Given the description of an element on the screen output the (x, y) to click on. 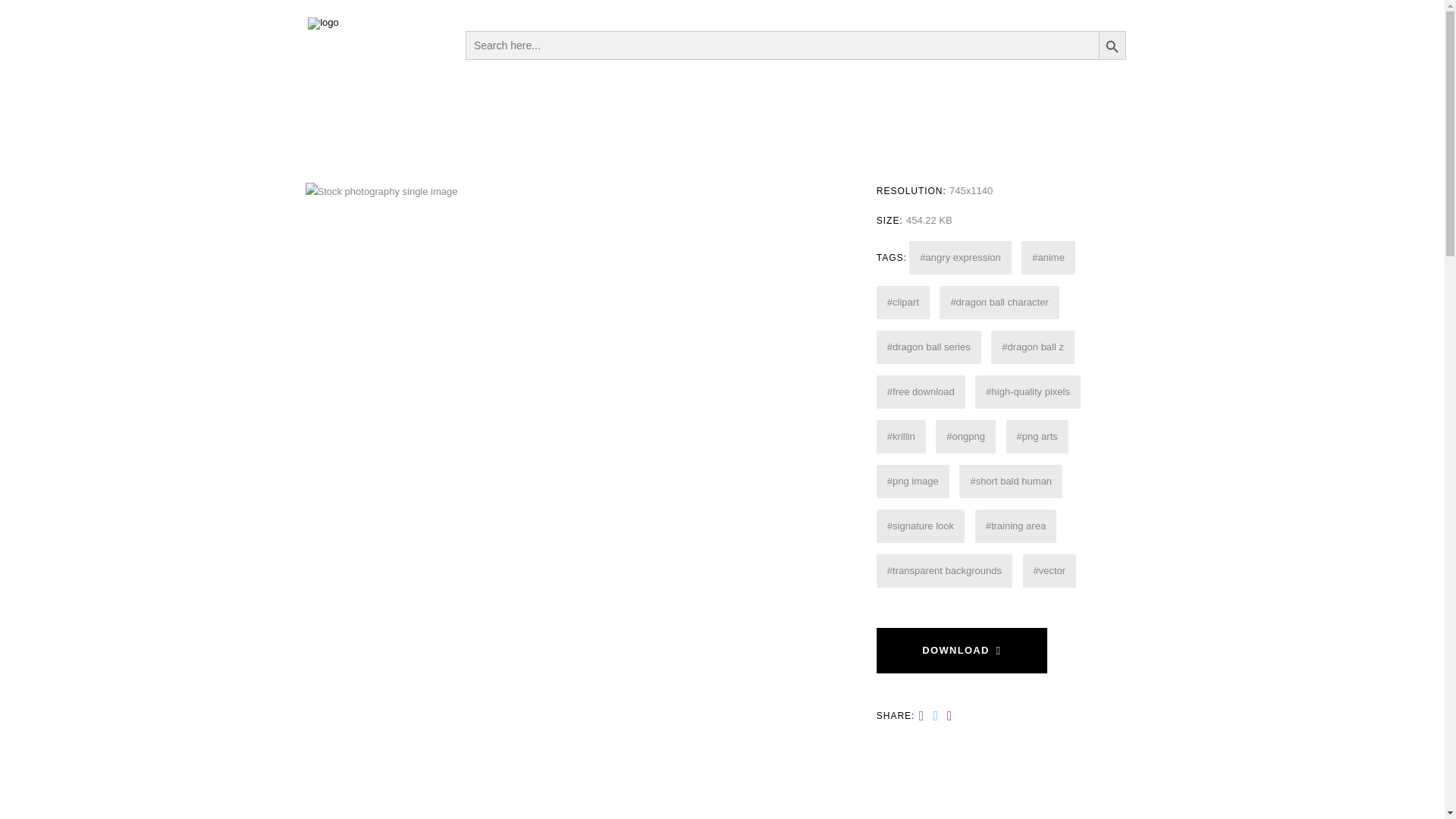
angry expression (959, 257)
clipart (903, 302)
anime (1048, 257)
Search Button (1112, 44)
